Given the description of an element on the screen output the (x, y) to click on. 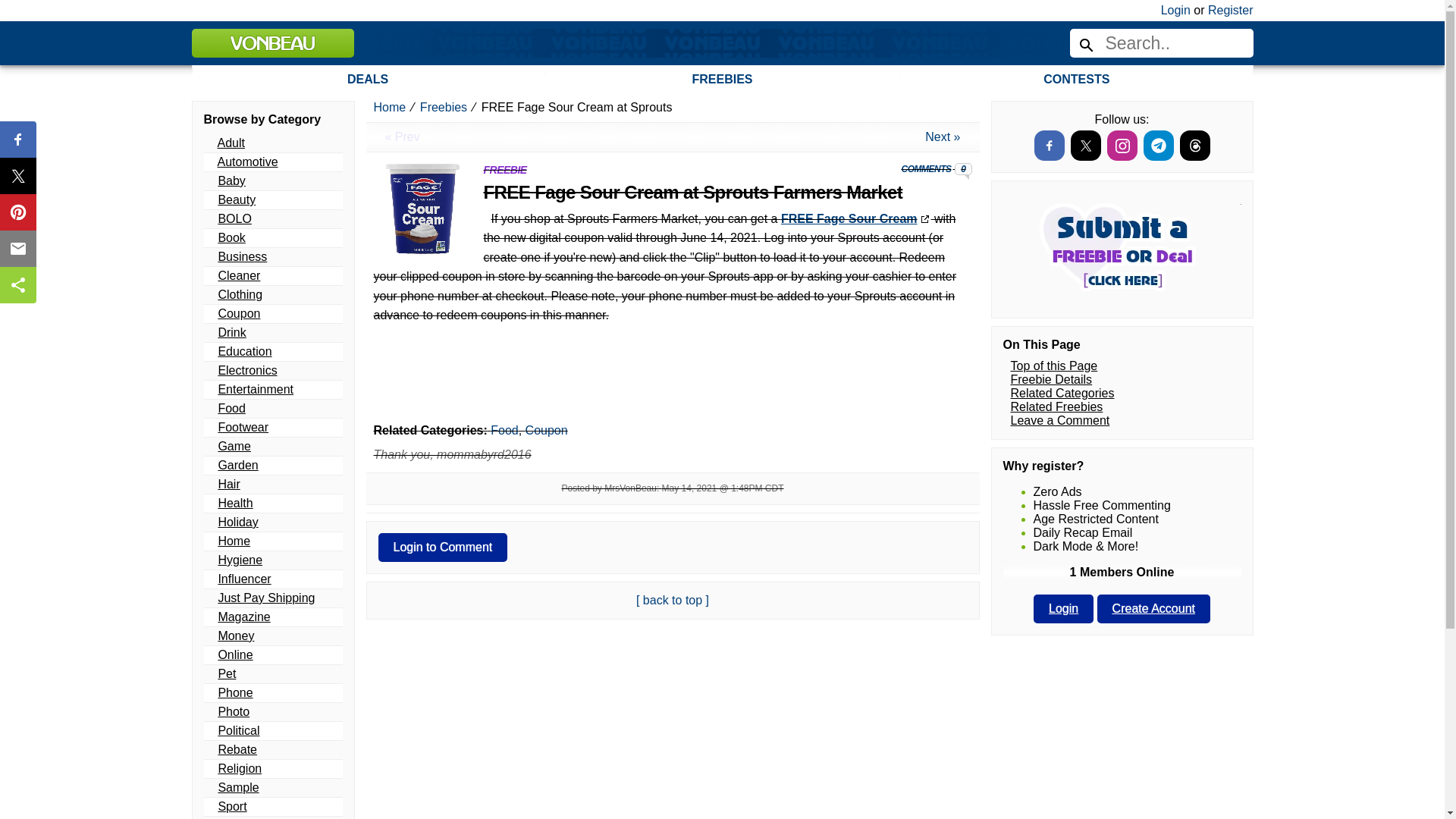
Business (241, 256)
Automotive (247, 161)
Political (237, 730)
BOLO (233, 218)
Religion (239, 768)
Influencer (243, 578)
Electronics (246, 369)
Beauty (236, 199)
Phone (233, 692)
Clothing (239, 294)
DEALS (366, 82)
Register (1230, 10)
Baby (230, 180)
Money (234, 635)
Food (230, 408)
